Given the description of an element on the screen output the (x, y) to click on. 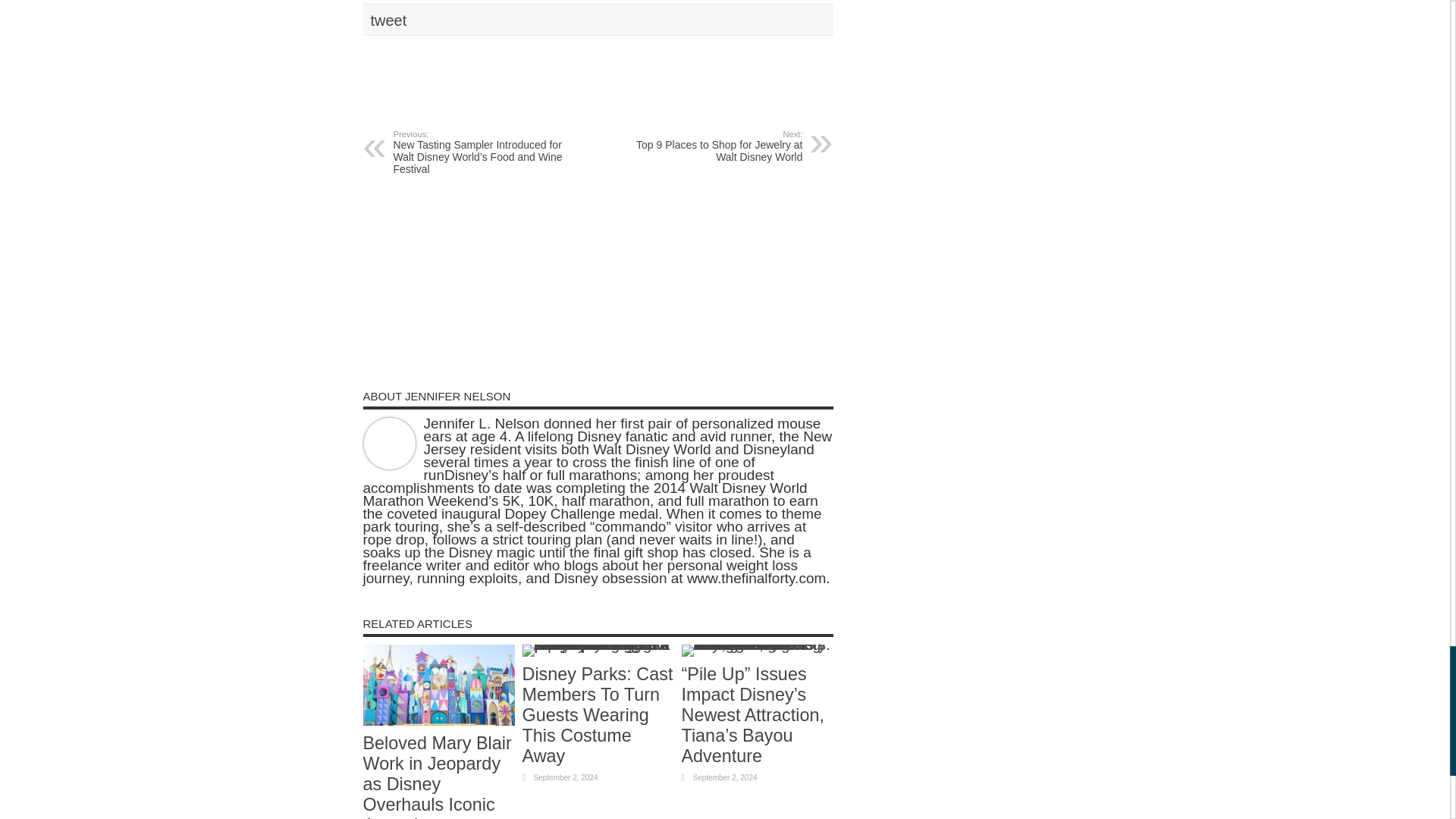
tweet (387, 20)
